Given the description of an element on the screen output the (x, y) to click on. 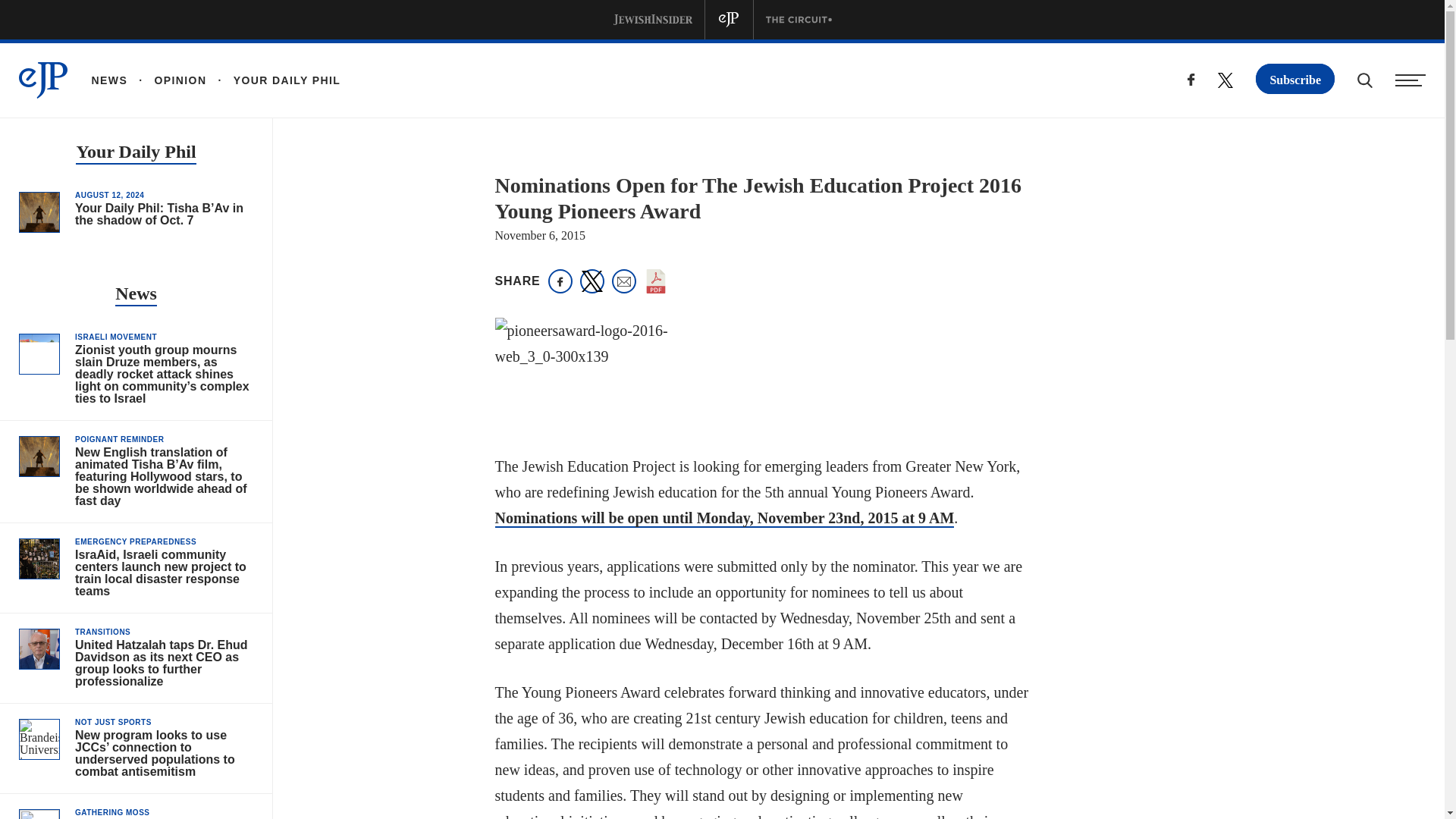
YOUR DAILY PHIL (273, 80)
Subscribe (1295, 78)
NEWS (109, 80)
OPINION (167, 80)
Your Daily Phil (135, 153)
News (136, 295)
